Given the description of an element on the screen output the (x, y) to click on. 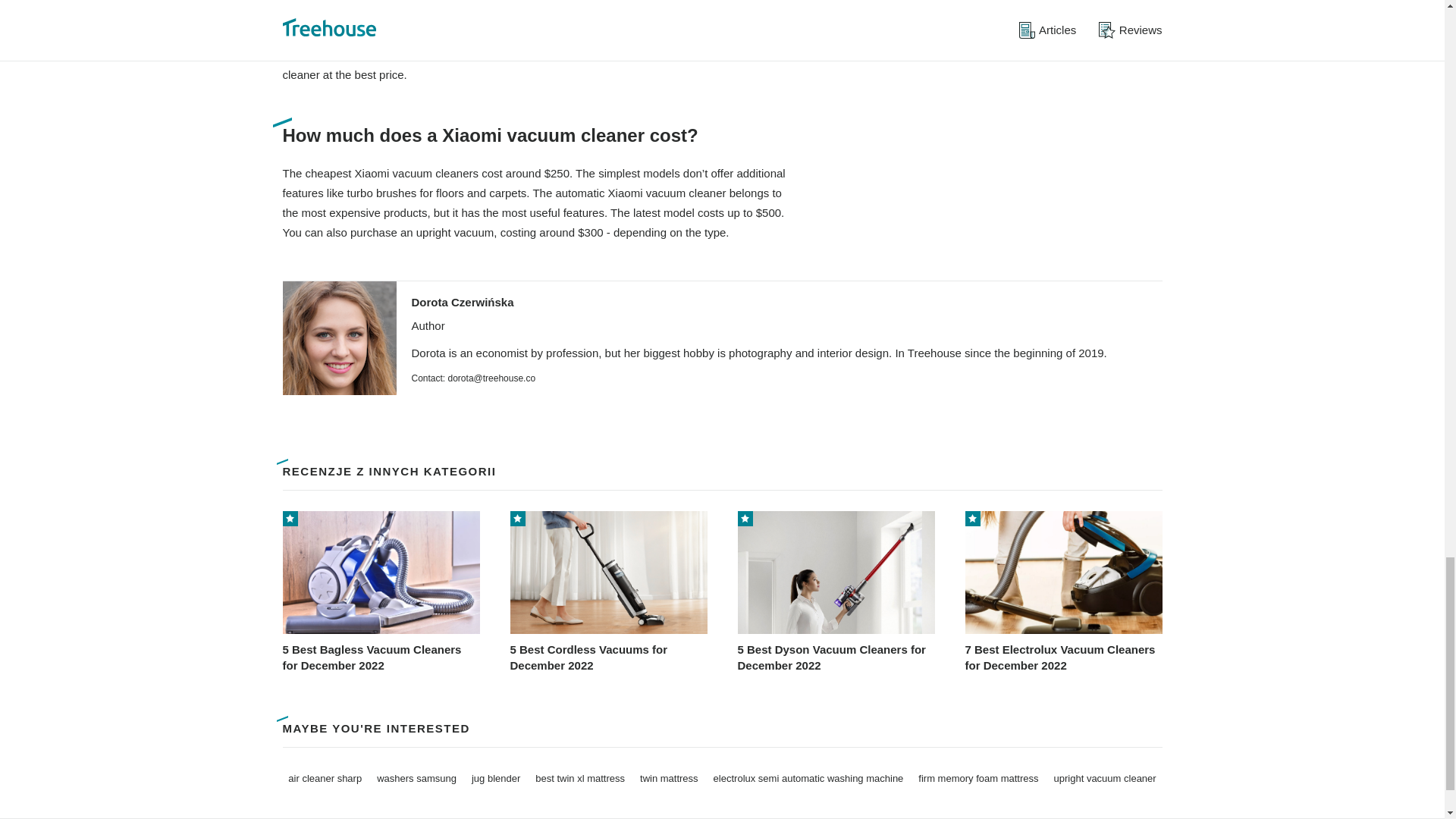
best twin xl mattress (579, 777)
5 Best Bagless Vacuum Cleaners for December 2022 (380, 592)
5 Best Dyson Vacuum Cleaners for December 2022 (835, 592)
firm memory foam mattress (978, 777)
electrolux semi automatic washing machine (808, 777)
twin mattress (668, 777)
upright vacuum cleaner (1104, 777)
washers samsung (416, 777)
jug blender (495, 777)
air cleaner sharp (325, 777)
